Given the description of an element on the screen output the (x, y) to click on. 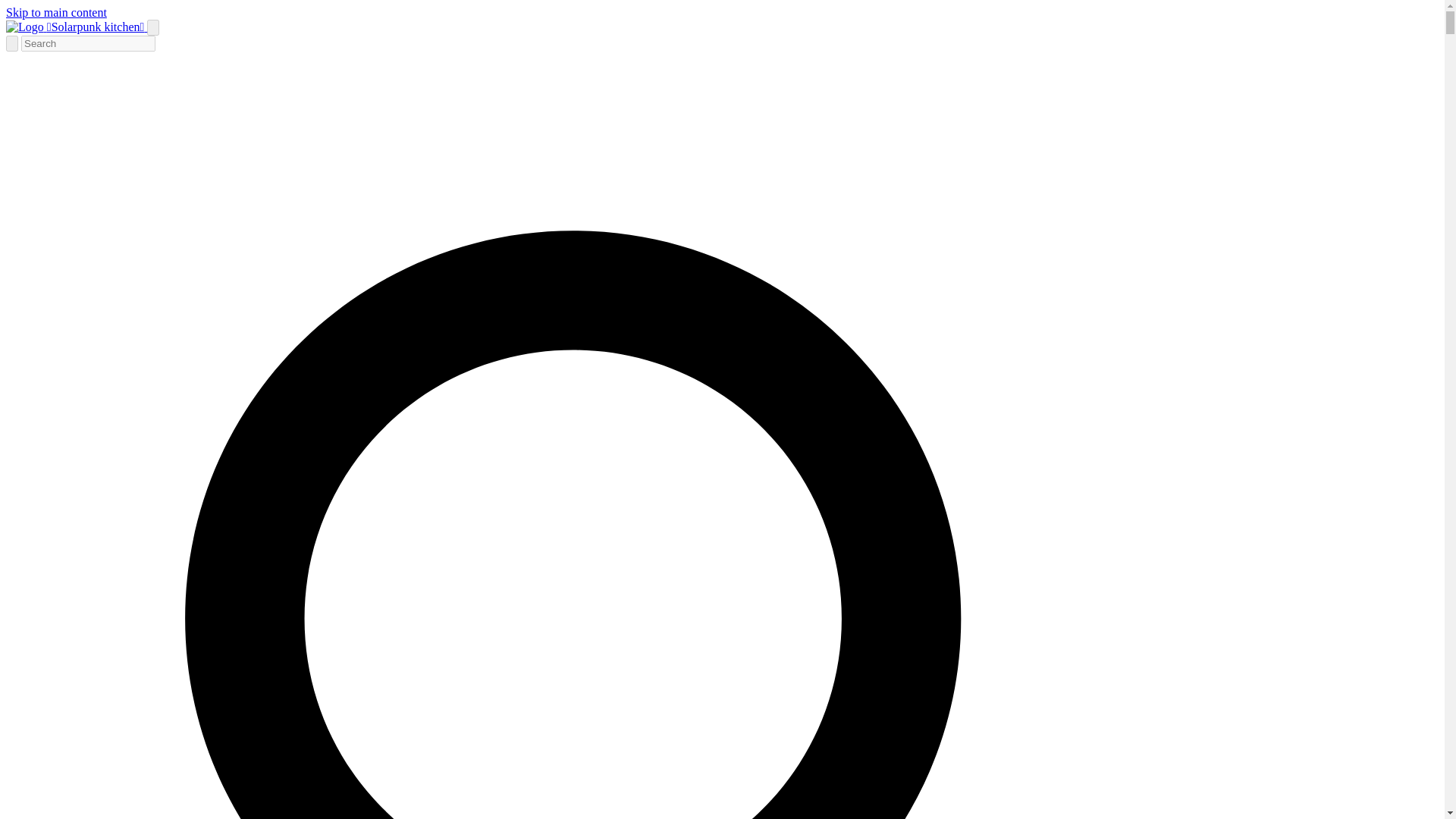
Expand Header Menu (152, 27)
Skip to main content (55, 11)
